Given the description of an element on the screen output the (x, y) to click on. 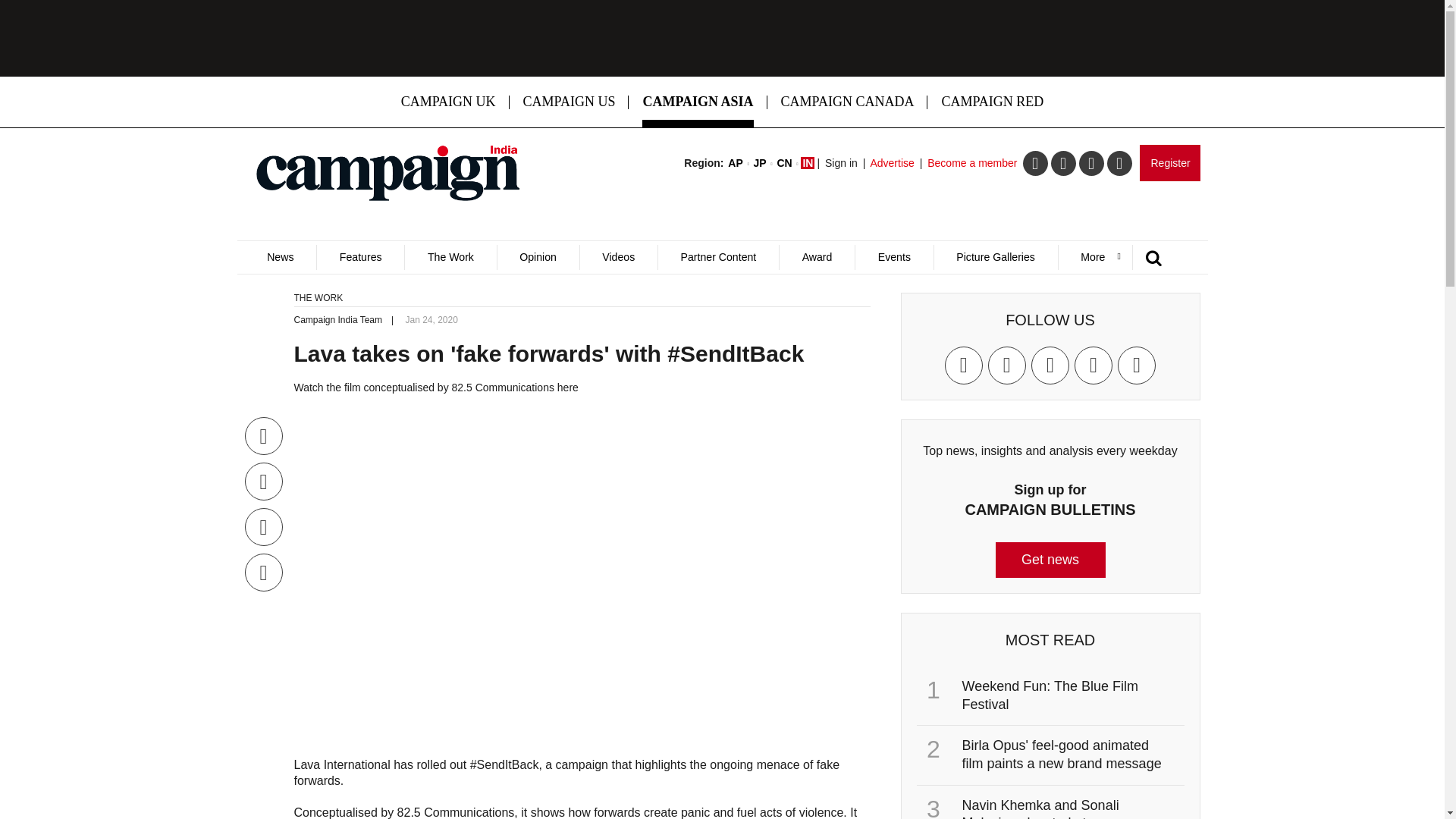
Advertise (891, 162)
Award (816, 257)
News (279, 257)
Videos (618, 257)
CAMPAIGN CANADA (847, 101)
CAMPAIGN UK (448, 101)
Opinion (537, 257)
Become a member (971, 162)
Features (359, 257)
Sign in (841, 162)
More (1095, 257)
Opinion (537, 257)
AP (735, 162)
The Work (450, 257)
Award (816, 257)
